Given the description of an element on the screen output the (x, y) to click on. 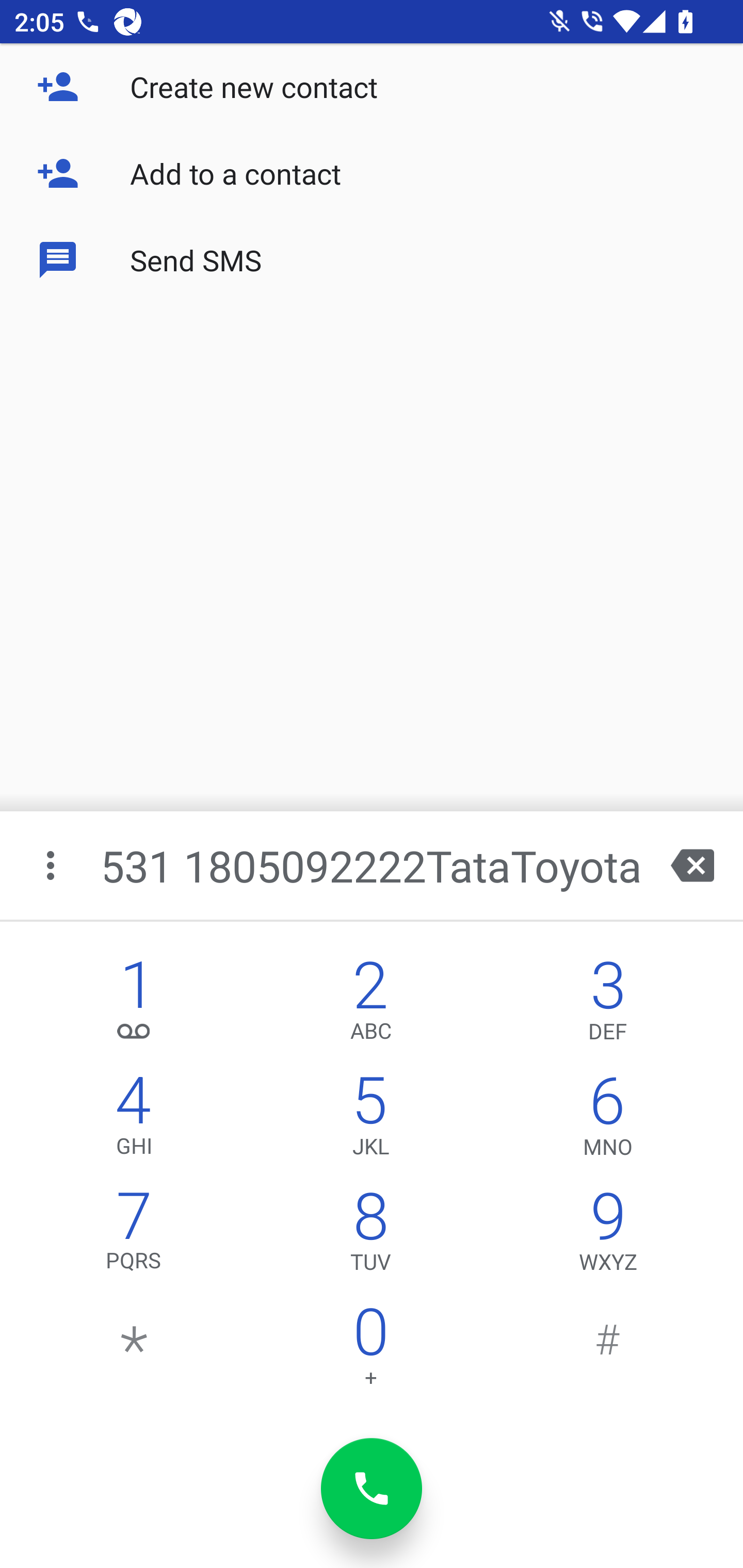
Create new contact (371, 86)
Add to a contact (371, 173)
Send SMS (371, 259)
+49 531 1805092222TataToyota (372, 865)
backspace (692, 865)
More options (52, 865)
1, 1 (133, 1005)
2,ABC 2 ABC (370, 1005)
3,DEF 3 DEF (607, 1005)
4,GHI 4 GHI (133, 1120)
5,JKL 5 JKL (370, 1120)
6,MNO 6 MNO (607, 1120)
7,PQRS 7 PQRS (133, 1235)
8,TUV 8 TUV (370, 1235)
9,WXYZ 9 WXYZ (607, 1235)
* (133, 1351)
0 0 + (370, 1351)
# (607, 1351)
dial (371, 1488)
